Given the description of an element on the screen output the (x, y) to click on. 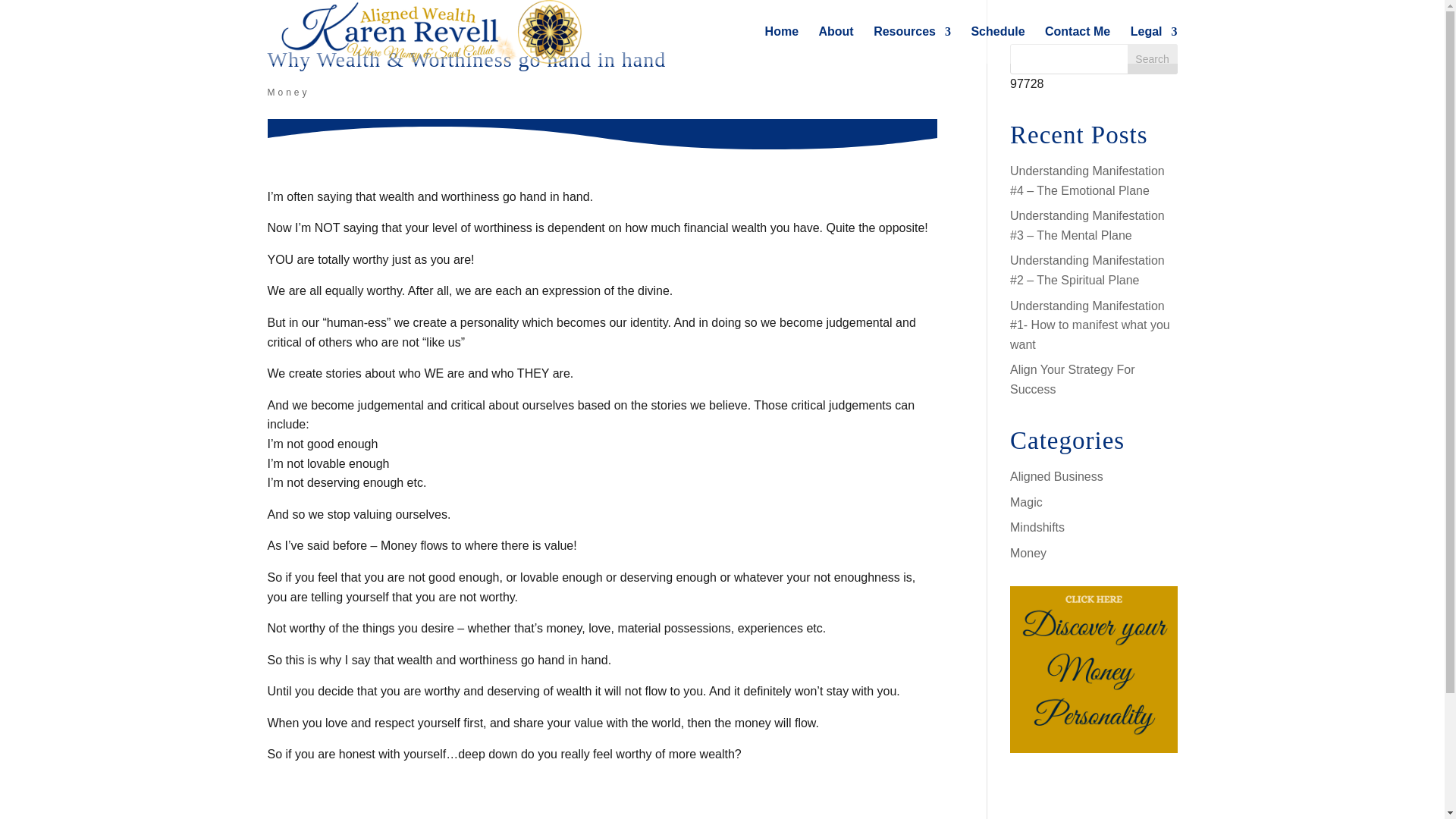
Money (1028, 553)
Contact Me (1077, 44)
Home (781, 44)
Resources (911, 44)
Schedule (998, 44)
Align Your Strategy For Success (1072, 379)
Mindshifts (1037, 526)
About (835, 44)
Search (1151, 59)
Money (287, 91)
Magic (1026, 502)
Legal (1154, 44)
Search (1151, 59)
Aligned Business (1056, 476)
